Given the description of an element on the screen output the (x, y) to click on. 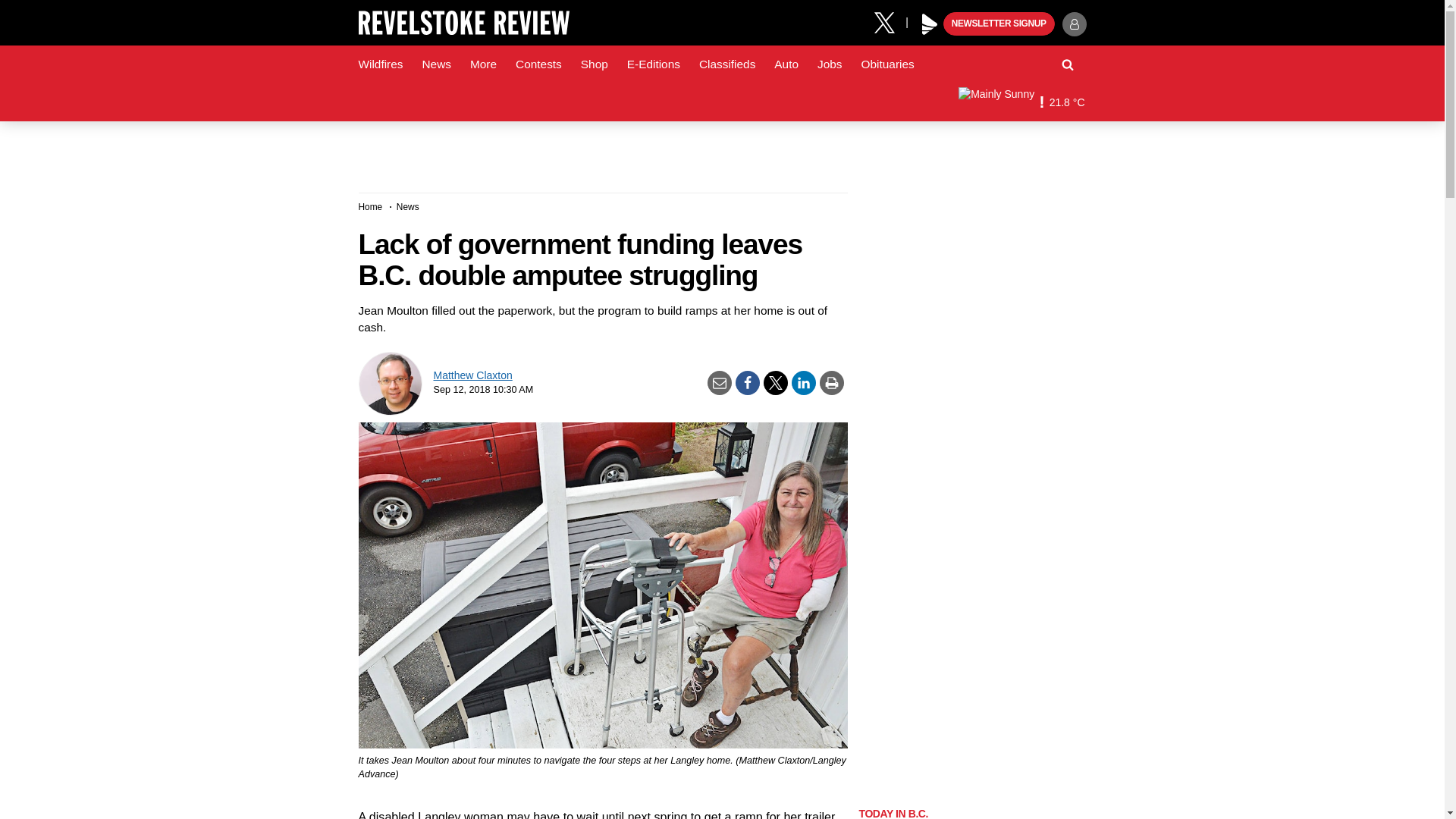
Play (929, 24)
Wildfires (380, 64)
News (435, 64)
NEWSLETTER SIGNUP (998, 24)
Black Press Media (929, 24)
X (889, 21)
